Given the description of an element on the screen output the (x, y) to click on. 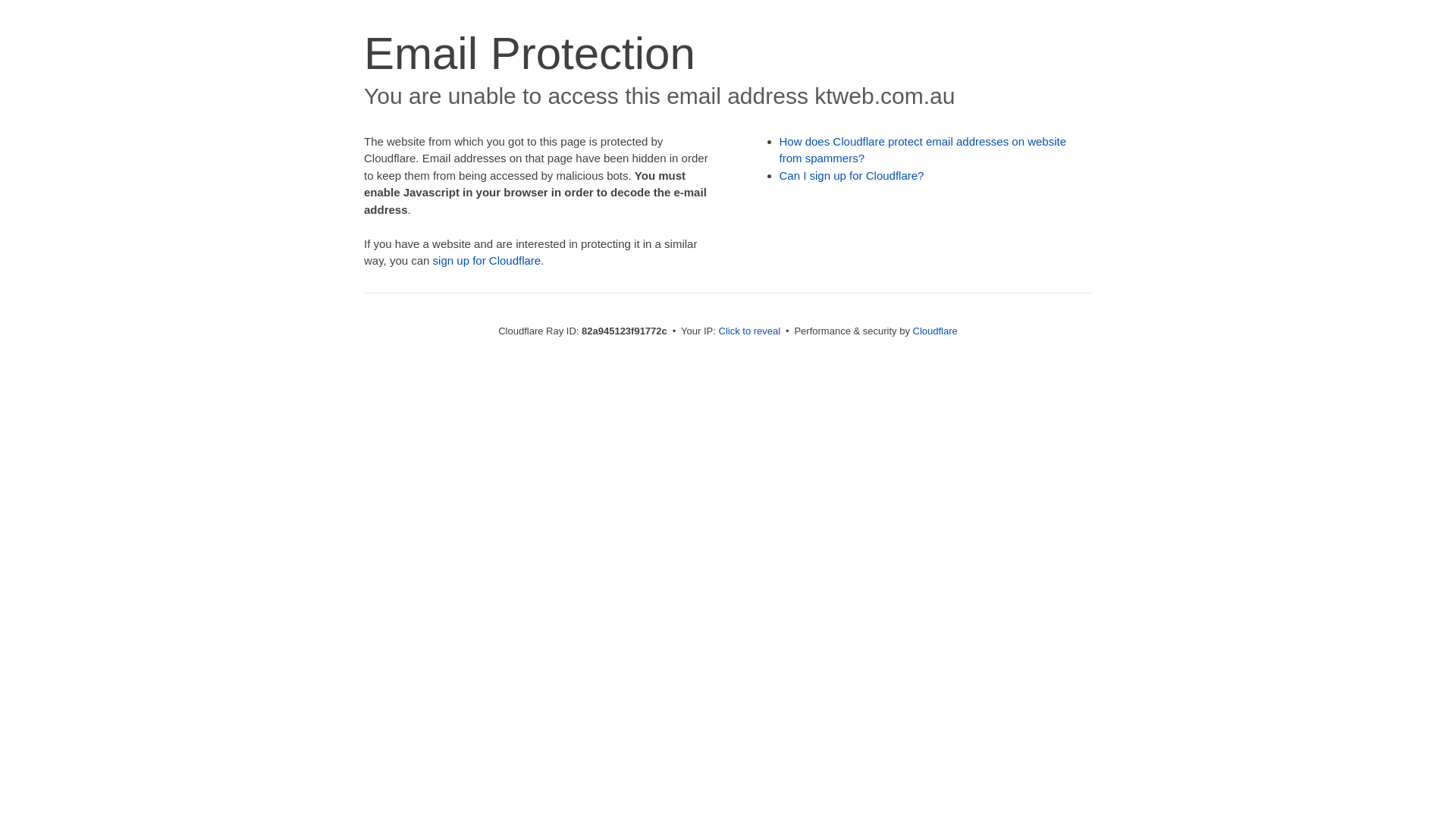
Click to reveal Element type: text (749, 330)
Can I sign up for Cloudflare? Element type: text (851, 175)
sign up for Cloudflare Element type: text (487, 260)
Cloudflare Element type: text (935, 330)
